Given the description of an element on the screen output the (x, y) to click on. 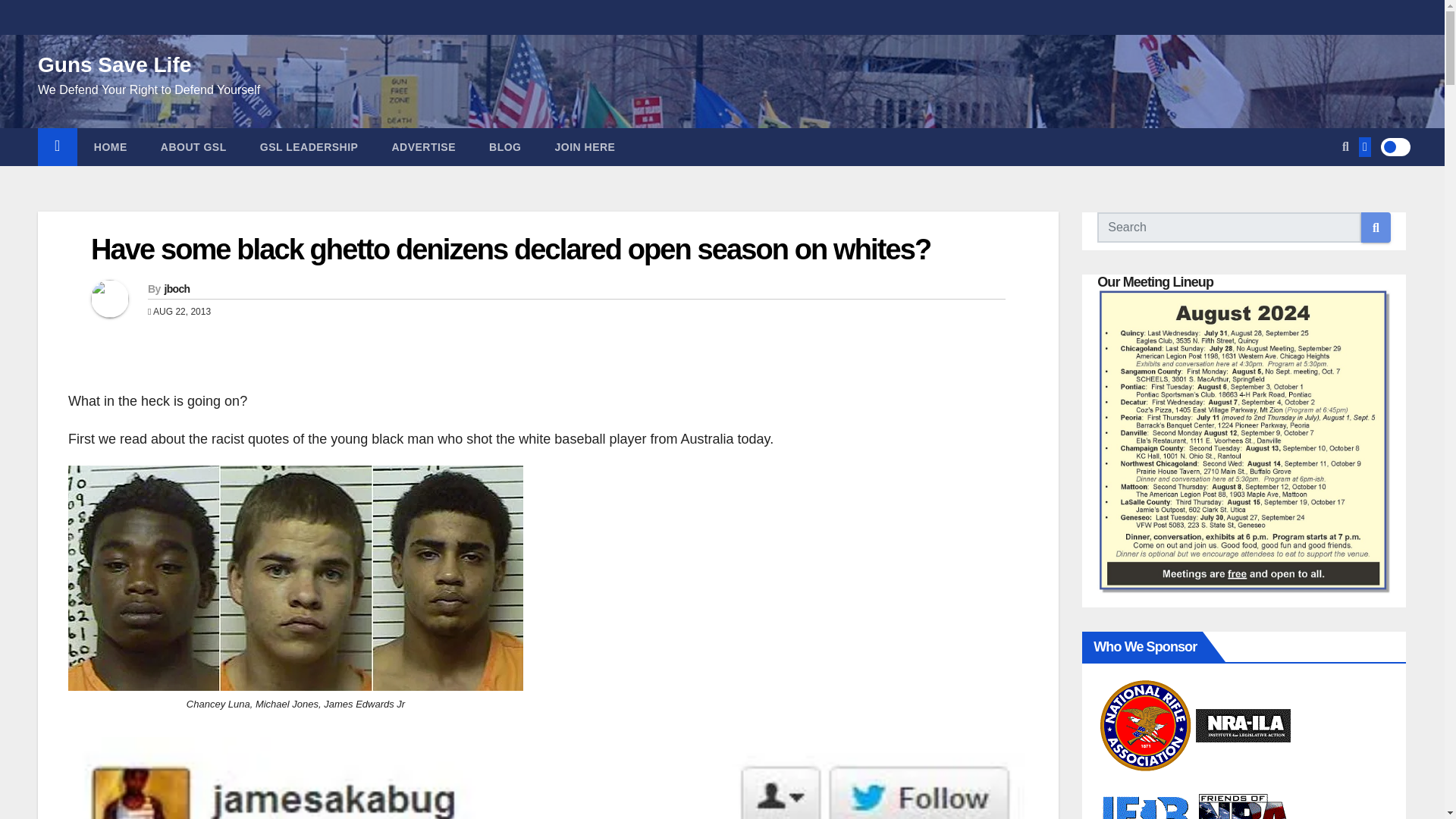
GSL LEADERSHIP (309, 146)
jboch (176, 288)
jamesakabugtweet1 (547, 778)
Guns Save Life (113, 64)
Chancey Luna, Michael Jones, James Edwards Jr (295, 578)
HOME (110, 146)
ABOUT GSL (193, 146)
ADVERTISE (422, 146)
Join here (584, 146)
BLOG (504, 146)
GSL Leadership (309, 146)
About GSL (193, 146)
JOIN HERE (584, 146)
Home (57, 146)
